Given the description of an element on the screen output the (x, y) to click on. 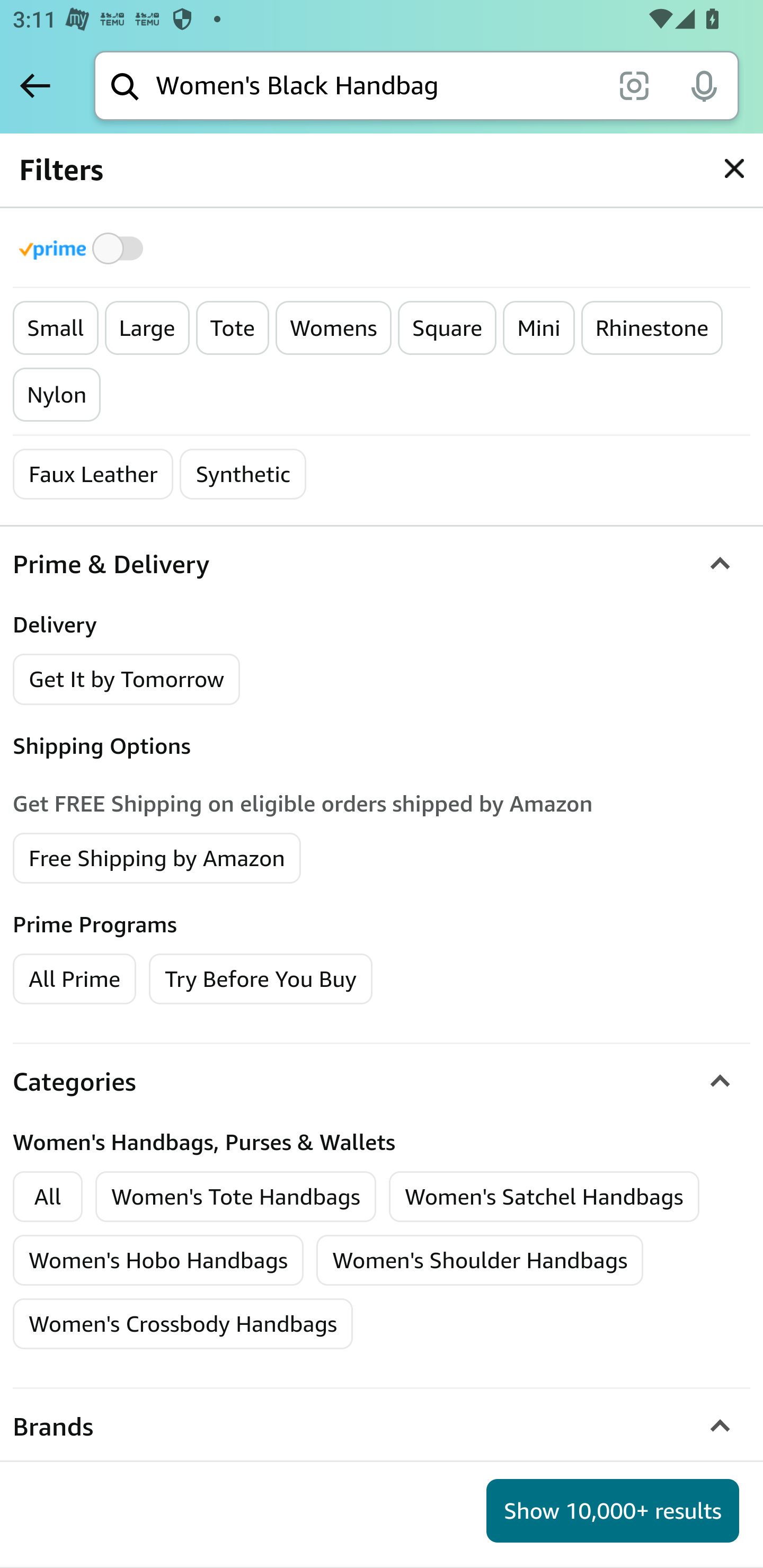
Back (35, 85)
scan it (633, 85)
Toggle to filter by Prime products Prime Eligible (83, 247)
Small (55, 328)
Large (146, 328)
Tote (232, 328)
Womens (333, 328)
Square (447, 328)
Mini (538, 328)
Rhinestone (651, 328)
Nylon (56, 394)
Faux Leather (93, 474)
Synthetic (242, 474)
Prime & Delivery (381, 564)
Get It by Tomorrow (126, 679)
Free Shipping by Amazon (157, 857)
All Prime (74, 978)
Try Before You Buy (260, 978)
Categories (381, 1081)
All (47, 1196)
Women's Tote Handbags (235, 1196)
Women's Satchel Handbags (543, 1196)
Women's Hobo Handbags (158, 1261)
Women's Shoulder Handbags (479, 1261)
Women's Crossbody Handbags (183, 1324)
Brands (381, 1427)
Show 10,000+ results (612, 1510)
